Given the description of an element on the screen output the (x, y) to click on. 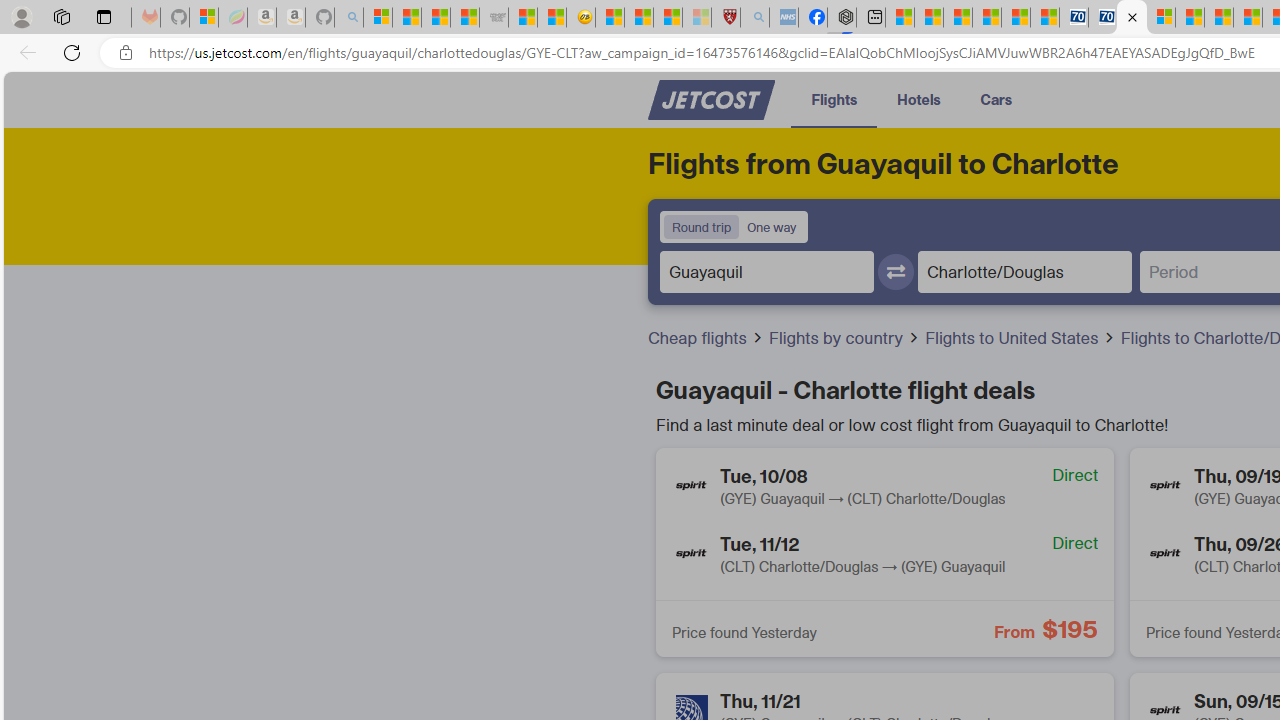
Class: no-underline cursor-pointer (711, 99)
Class: absolute inset-0 (884, 551)
14 Common Myths Debunked By Scientific Facts (1247, 17)
Flights by country (844, 337)
Recipes - MSN (610, 17)
Cheap Hotels - Save70.com (1103, 17)
Cars (995, 98)
Flights to United States (1021, 337)
